Given the description of an element on the screen output the (x, y) to click on. 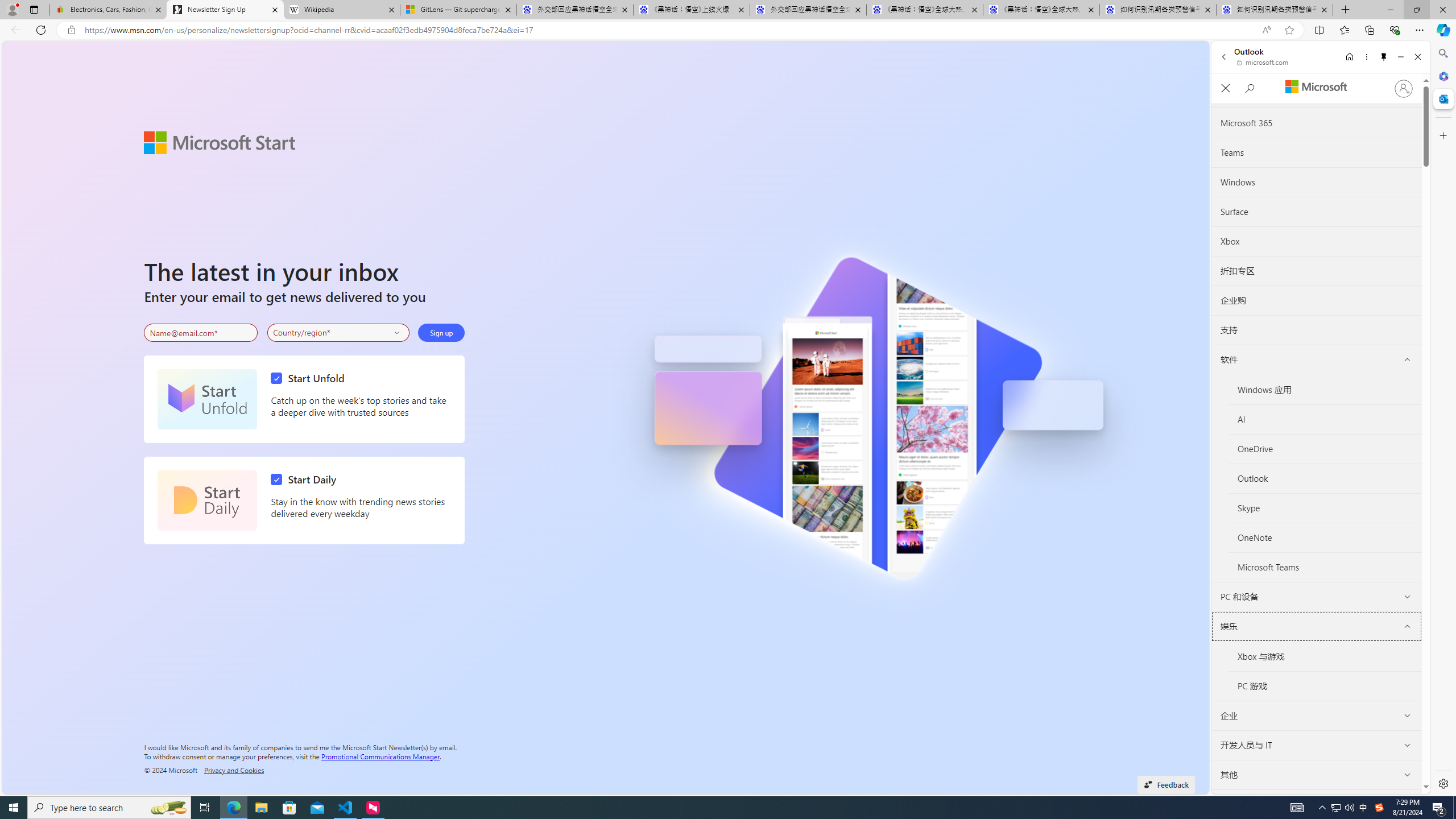
Home (1348, 56)
Select your country (338, 332)
Start Daily (207, 500)
Promotional Communications Manager (380, 755)
Outlook (1442, 98)
OneNote (1325, 538)
Start Daily (306, 479)
Start Unfold (310, 378)
